Given the description of an element on the screen output the (x, y) to click on. 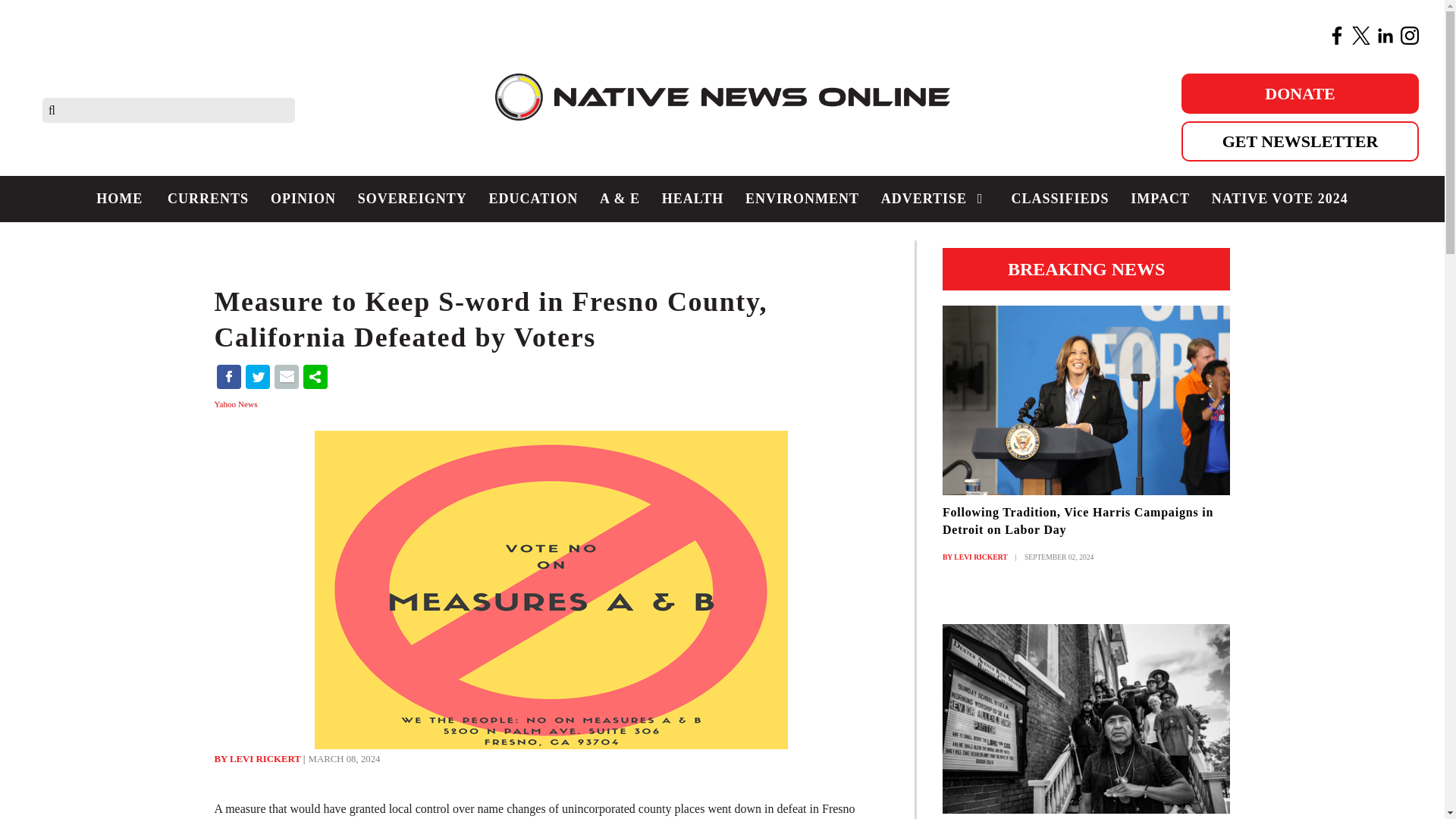
EDUCATION (532, 198)
CLASSIFIEDS (1059, 198)
ADVERTISE (934, 198)
OPINION (302, 198)
CURRENTS (208, 198)
IMPACT (1159, 198)
Native News Online (722, 109)
NATIVE VOTE 2024 (1279, 198)
ENVIRONMENT (802, 198)
Yahoo News (237, 404)
